Given the description of an element on the screen output the (x, y) to click on. 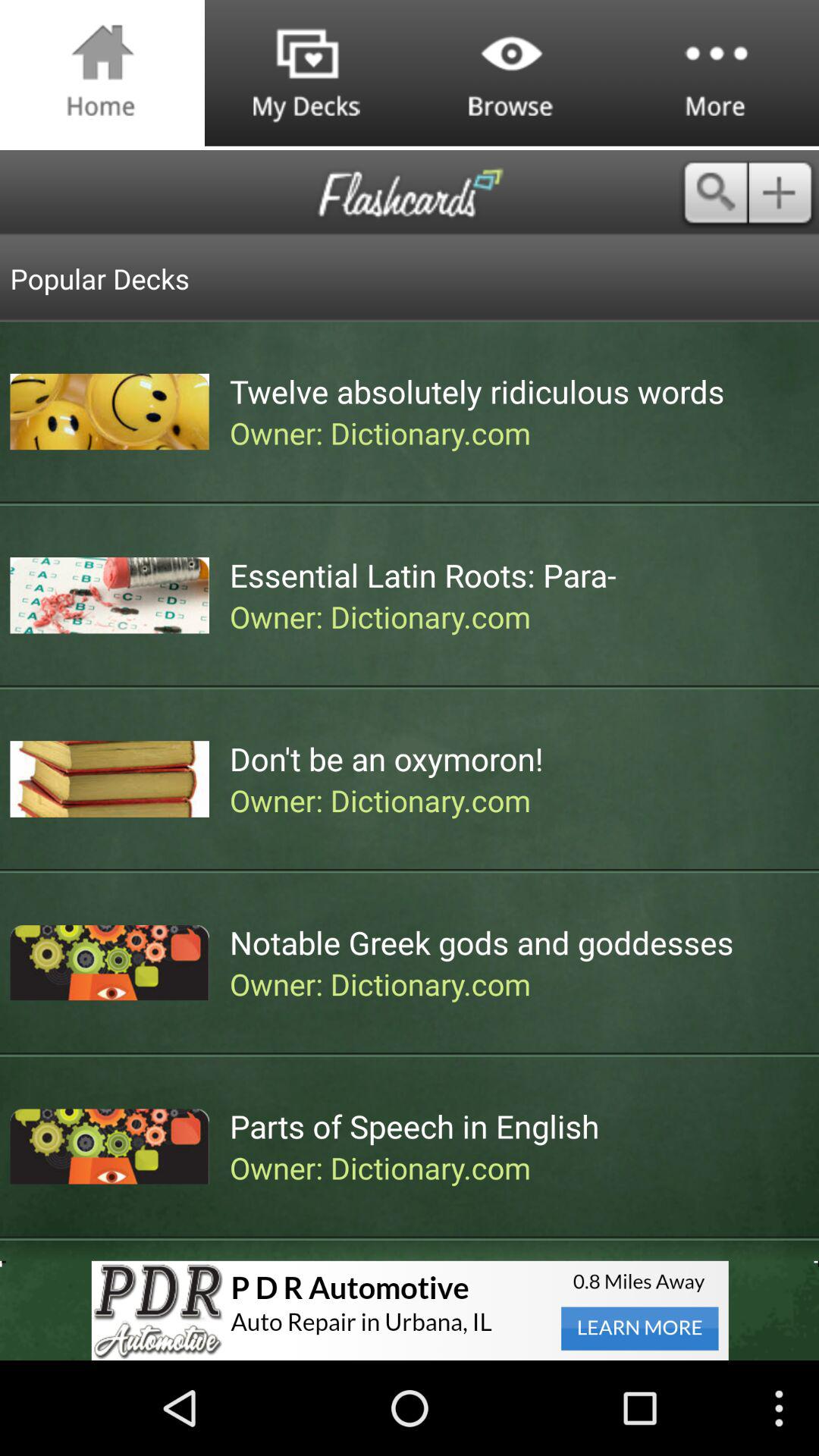
go to search (714, 192)
